Given the description of an element on the screen output the (x, y) to click on. 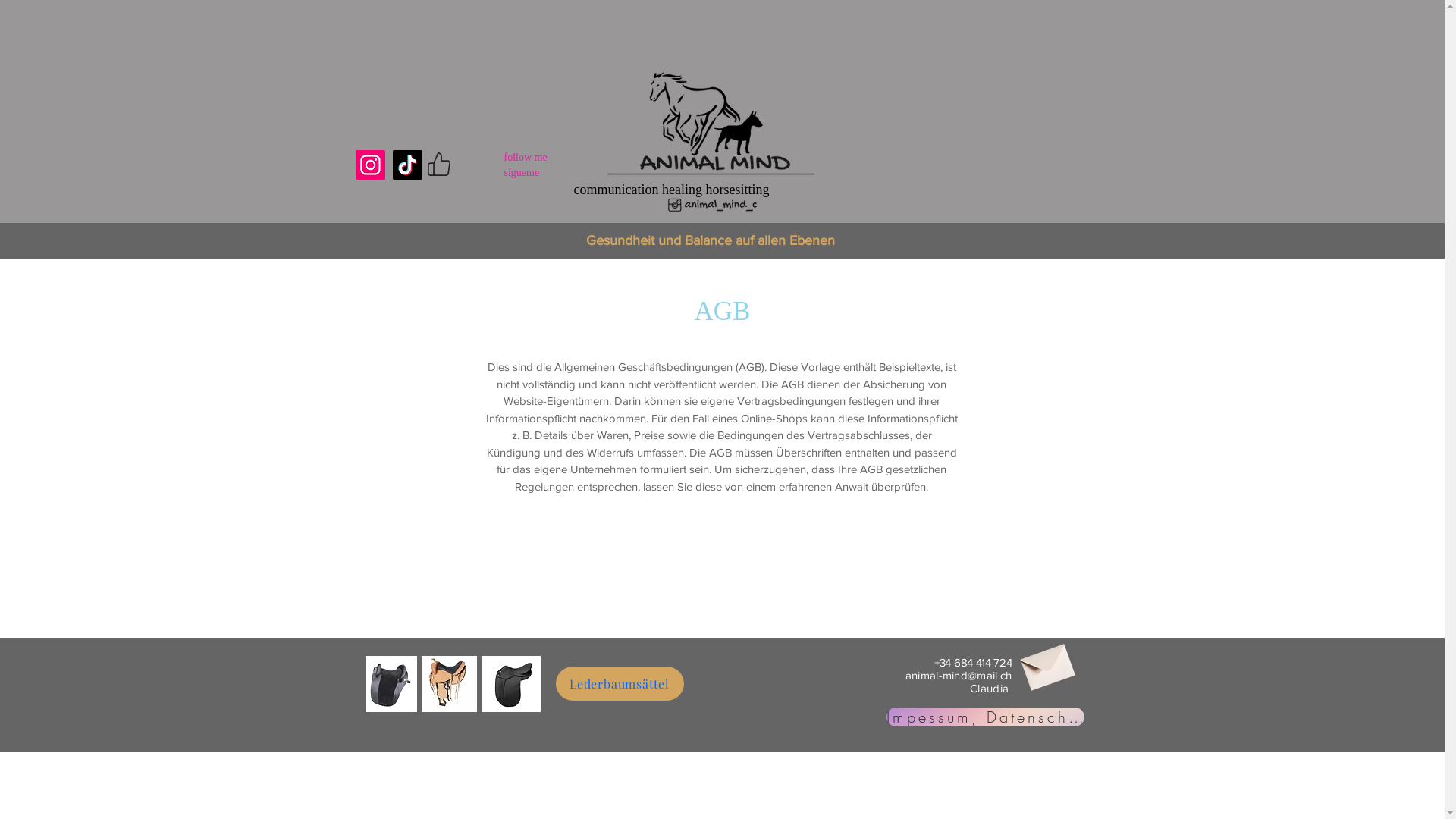
10A3AB0F-3EFC-4702-999B-9F078EC0FFAA_1_2 Element type: hover (448, 683)
animal-mind@mail.ch Element type: text (958, 674)
Impessum, Datenschutzm AGB Element type: text (984, 716)
847868EB-7521-4670-9B8F-3773A4B00C0B_1_2 Element type: hover (391, 683)
Bewertungen animal mind Element type: hover (1012, 149)
Envelope Element type: hover (1046, 662)
